Given the description of an element on the screen output the (x, y) to click on. 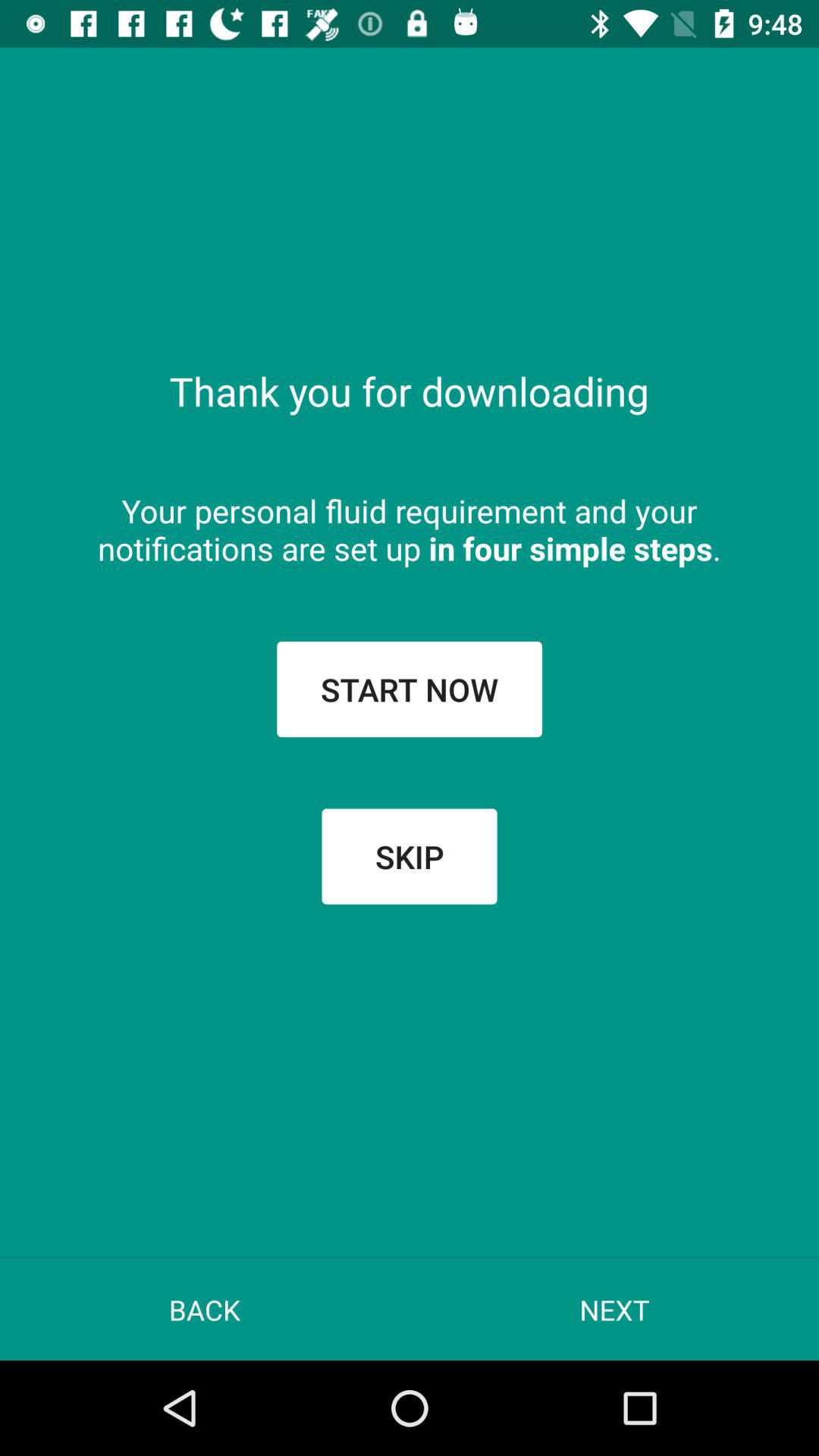
choose the app to the right of the back item (614, 1309)
